Given the description of an element on the screen output the (x, y) to click on. 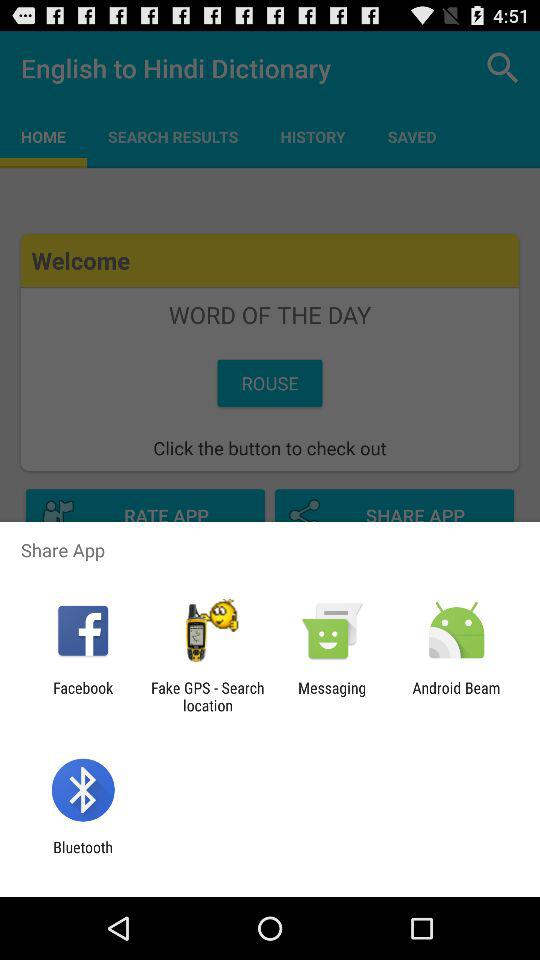
open icon next to messaging app (456, 696)
